Given the description of an element on the screen output the (x, y) to click on. 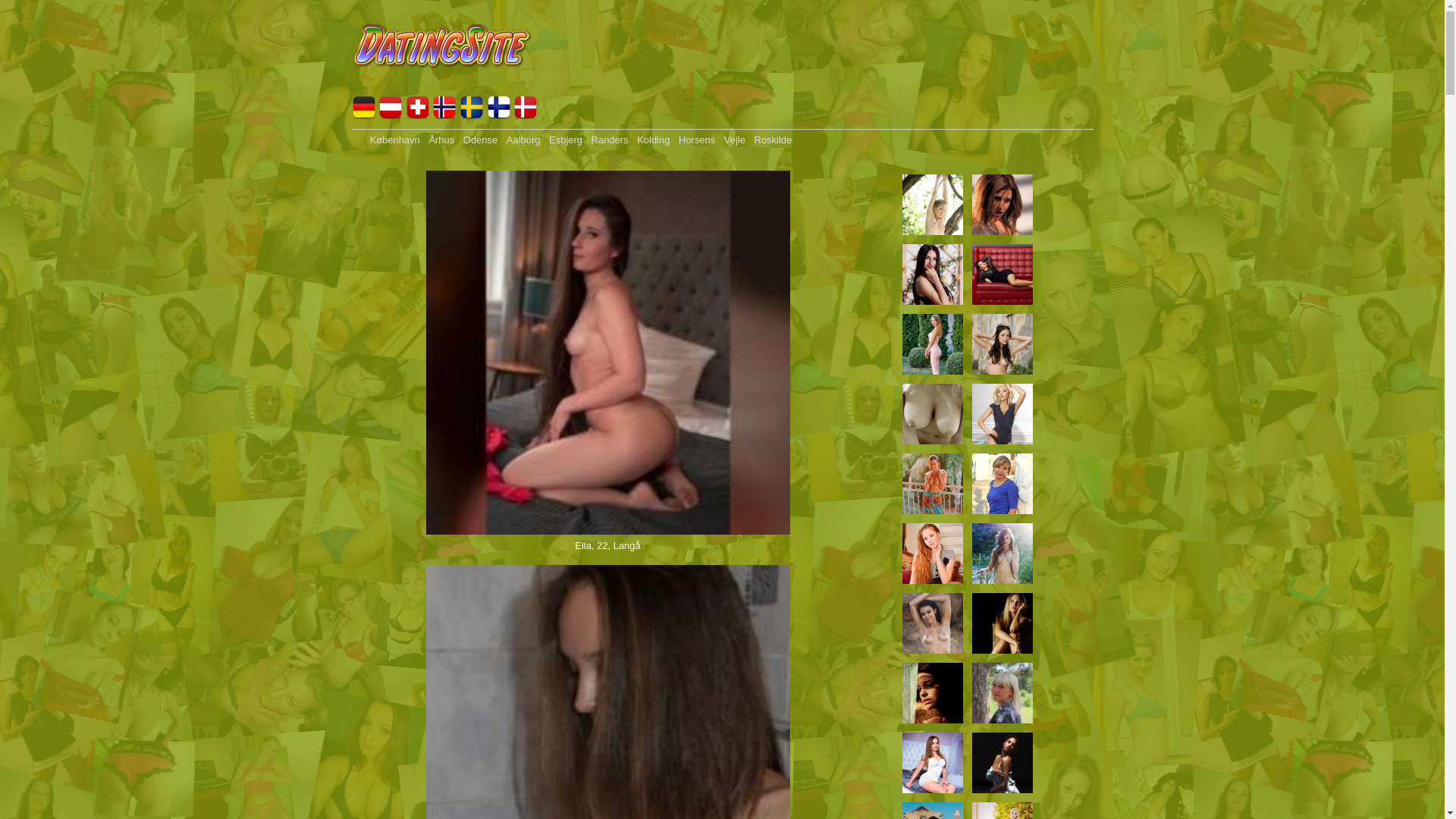
FI Element type: hover (498, 115)
NO Element type: hover (444, 115)
CH Element type: hover (417, 115)
dating haderslev Element type: hover (442, 87)
Aalborg Element type: text (523, 139)
Horsens Element type: text (696, 139)
Odense Element type: text (480, 139)
Randers Element type: text (609, 139)
Vejle Element type: text (734, 139)
DK Element type: hover (525, 115)
AT Element type: hover (390, 115)
SE Element type: hover (471, 115)
Esbjerg Element type: text (565, 139)
Roskilde Element type: text (773, 139)
Kolding Element type: text (653, 139)
DE Element type: hover (363, 115)
